Given the description of an element on the screen output the (x, y) to click on. 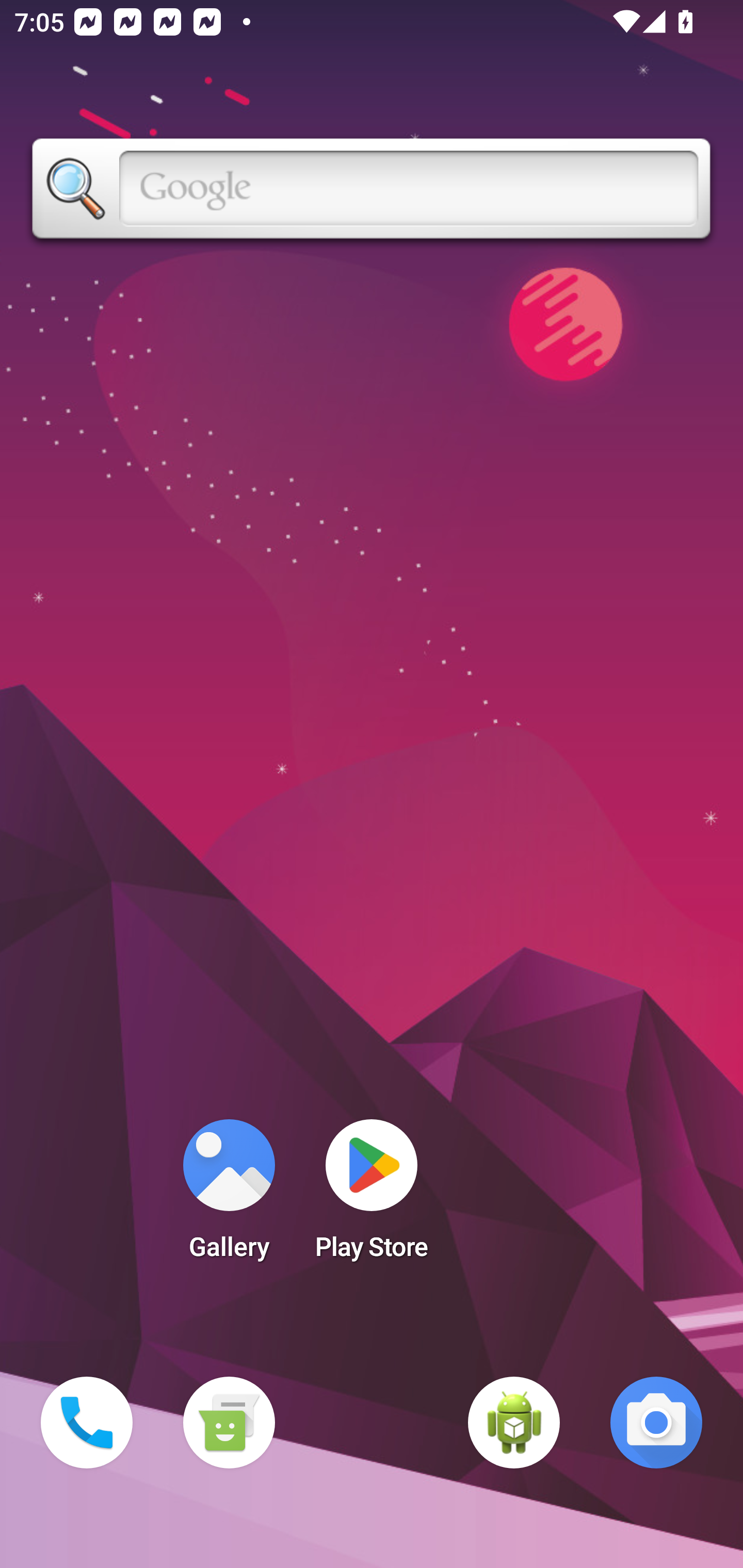
Gallery (228, 1195)
Play Store (371, 1195)
Phone (86, 1422)
Messaging (228, 1422)
WebView Browser Tester (513, 1422)
Camera (656, 1422)
